Given the description of an element on the screen output the (x, y) to click on. 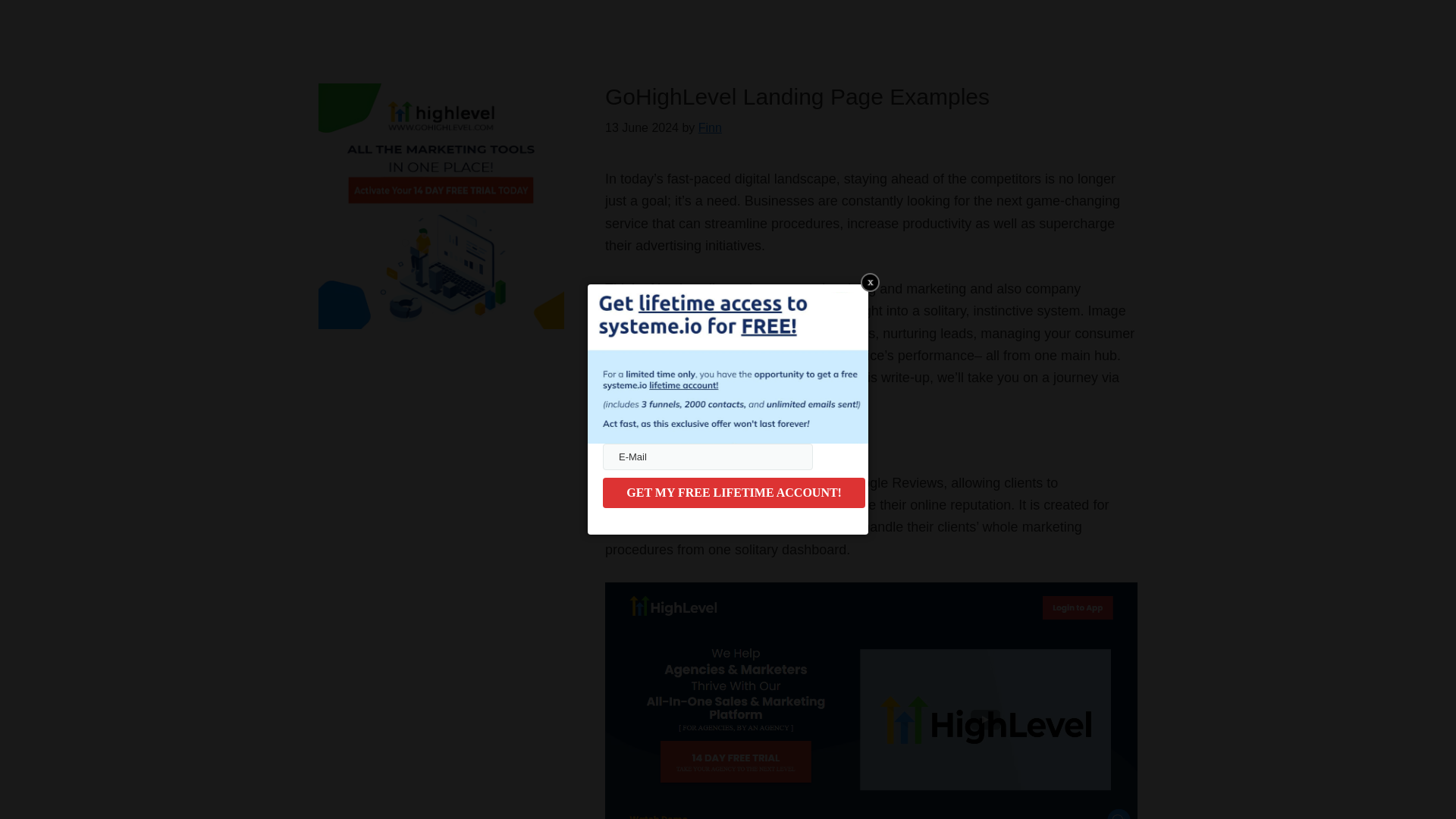
Finn (710, 127)
GET MY FREE LIFETIME ACCOUNT! (733, 492)
GET MY FREE LIFETIME ACCOUNT! (733, 492)
